Given the description of an element on the screen output the (x, y) to click on. 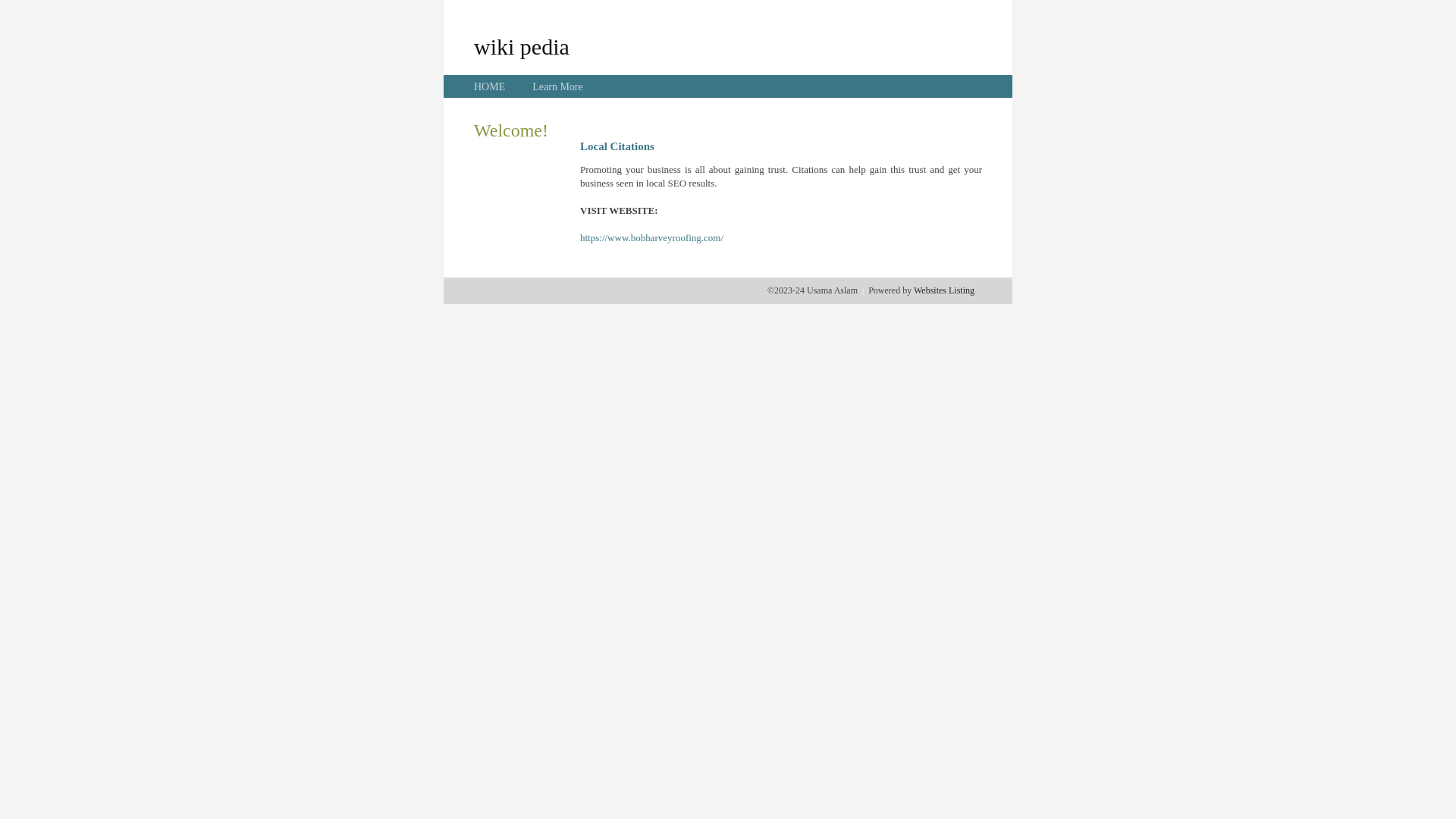
HOME Element type: text (489, 86)
https://www.bobharveyroofing.com/ Element type: text (651, 237)
Learn More Element type: text (557, 86)
Websites Listing Element type: text (943, 290)
wiki pedia Element type: text (521, 46)
